Given the description of an element on the screen output the (x, y) to click on. 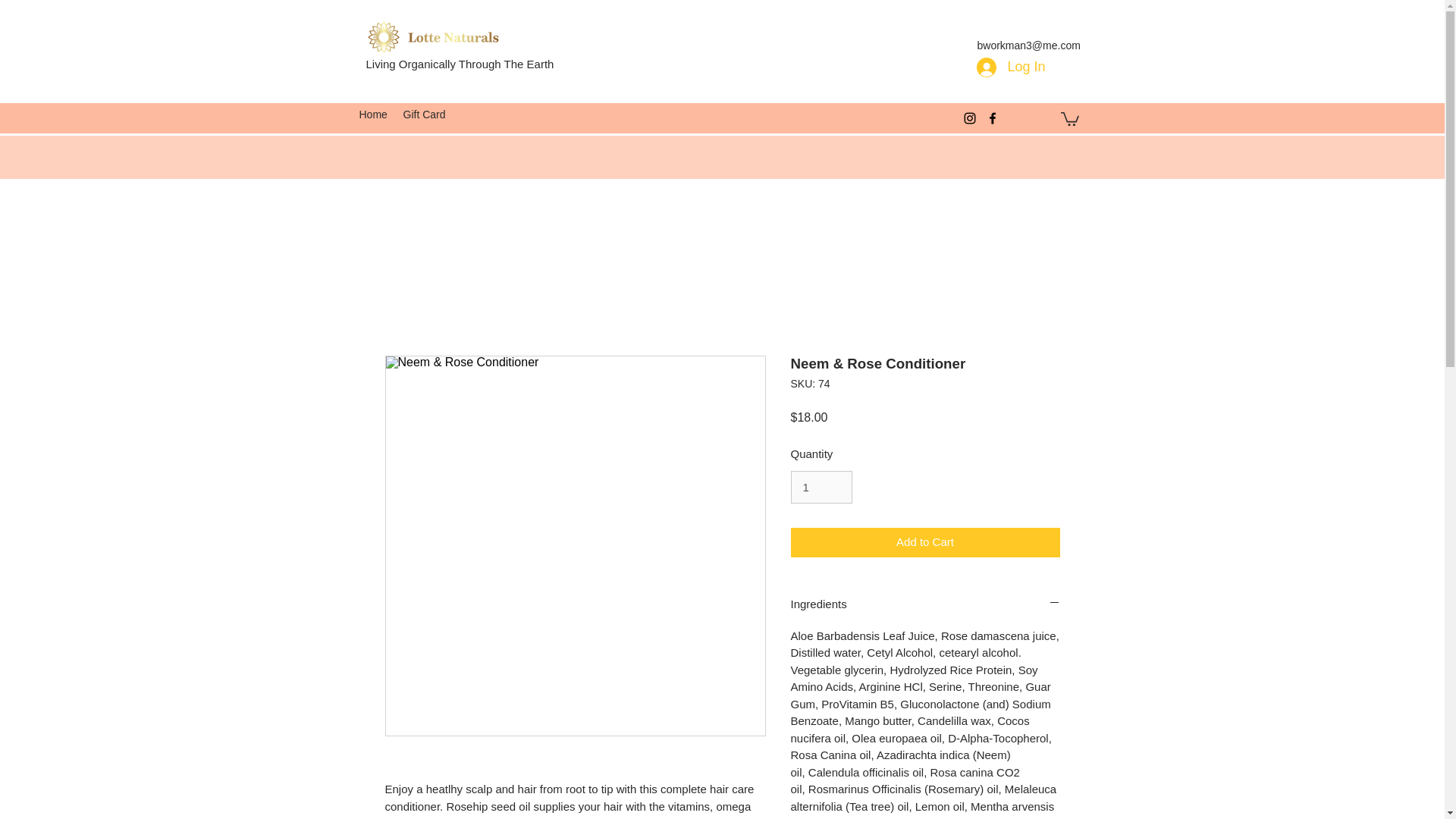
Gift Card (425, 114)
1 (820, 487)
Add to Cart (924, 542)
Home (374, 114)
Ingredients (924, 604)
Log In (1010, 67)
